Given the description of an element on the screen output the (x, y) to click on. 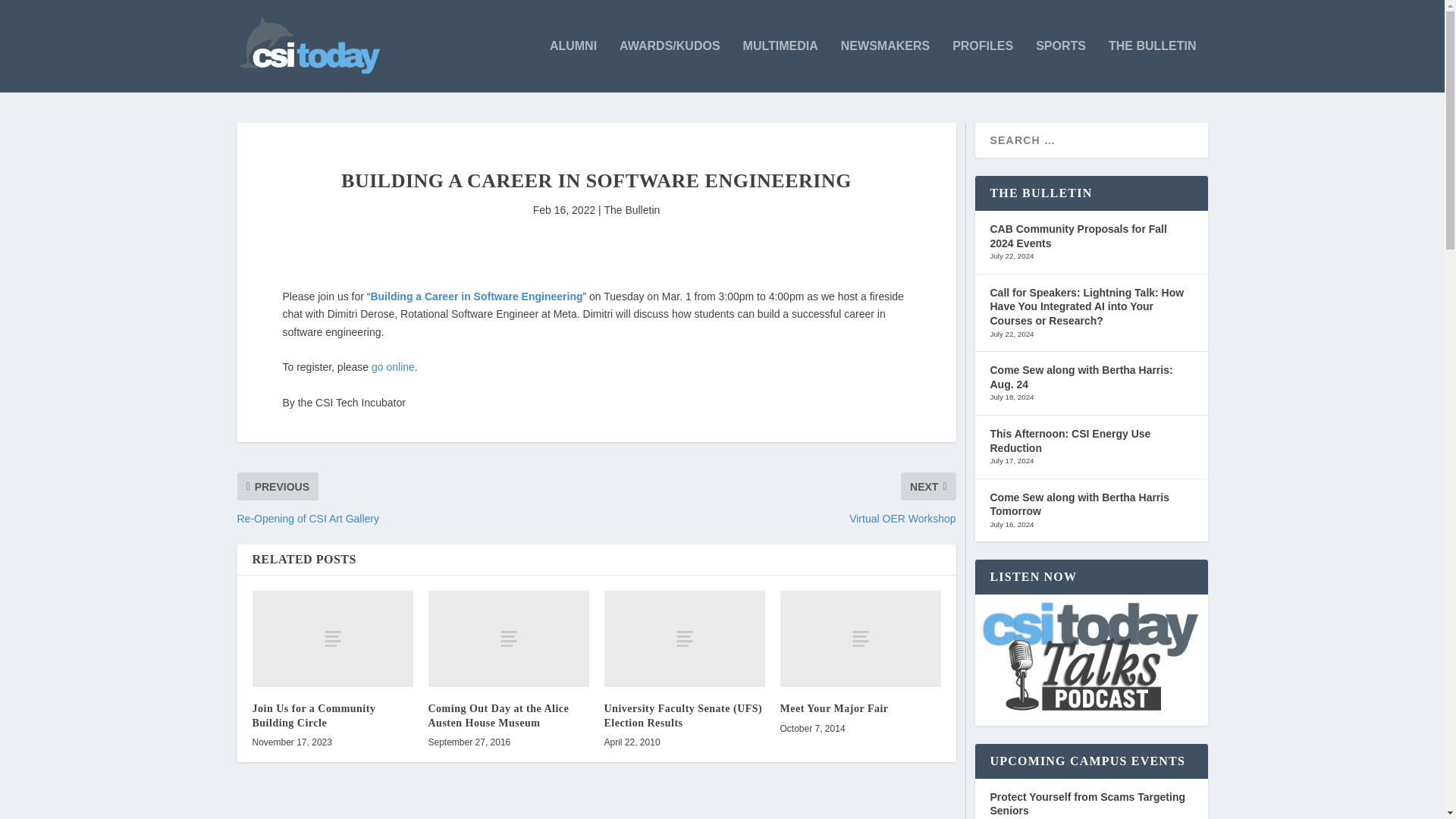
Coming Out Day at the Alice Austen House Museum (508, 638)
THE BULLETIN (1152, 66)
Meet Your Major Fair (859, 638)
MULTIMEDIA (780, 66)
Join Us for a Community Building Circle (331, 638)
ALUMNI (573, 66)
SPORTS (1060, 66)
NEWSMAKERS (885, 66)
PROFILES (982, 66)
